Given the description of an element on the screen output the (x, y) to click on. 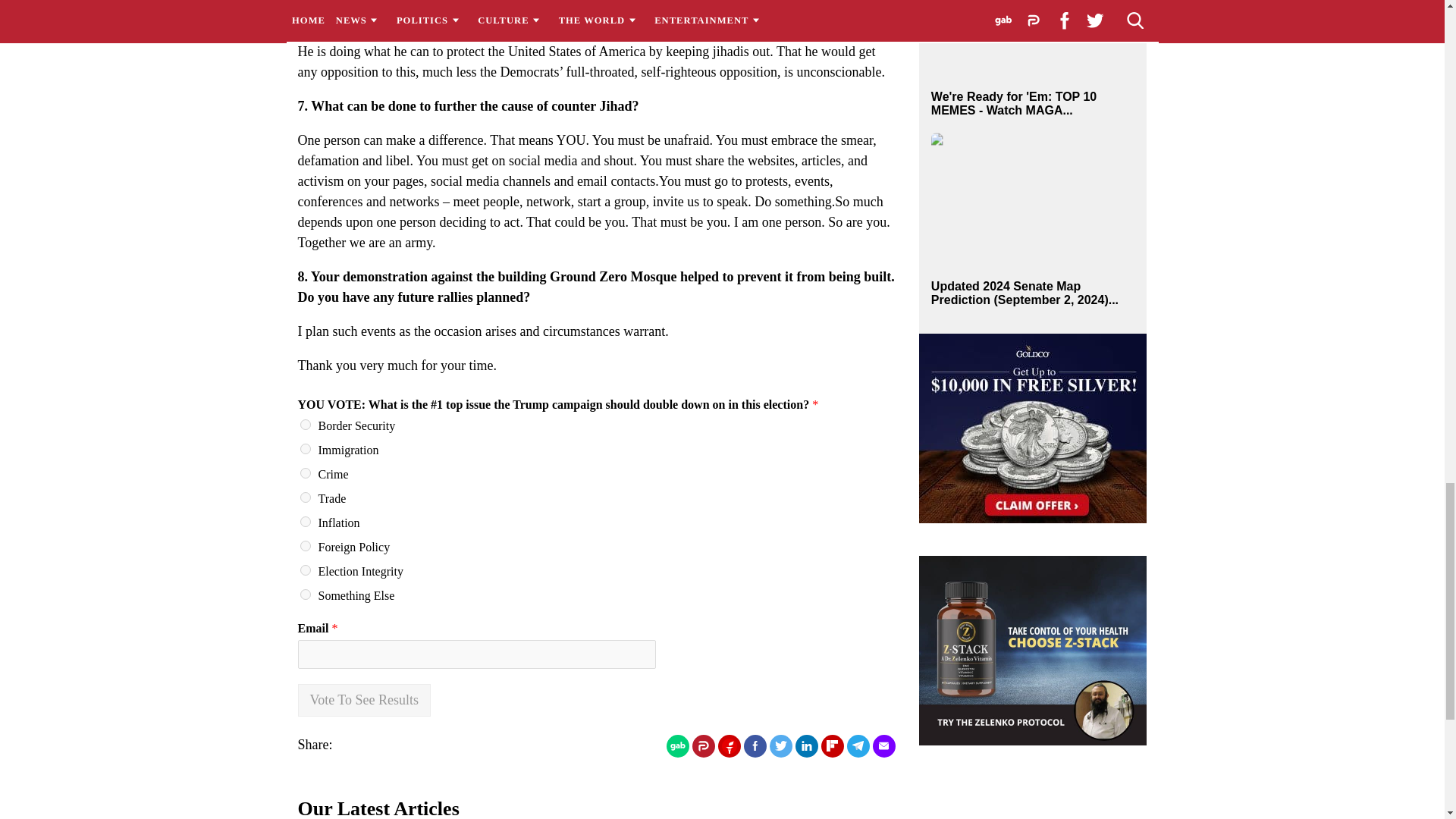
Trade (305, 497)
Inflation (305, 521)
Immigration (305, 448)
Something Else (305, 593)
Border Security  (305, 424)
Crime (305, 472)
Foreign Policy  (305, 545)
Election Integrity  (305, 570)
